Given the description of an element on the screen output the (x, y) to click on. 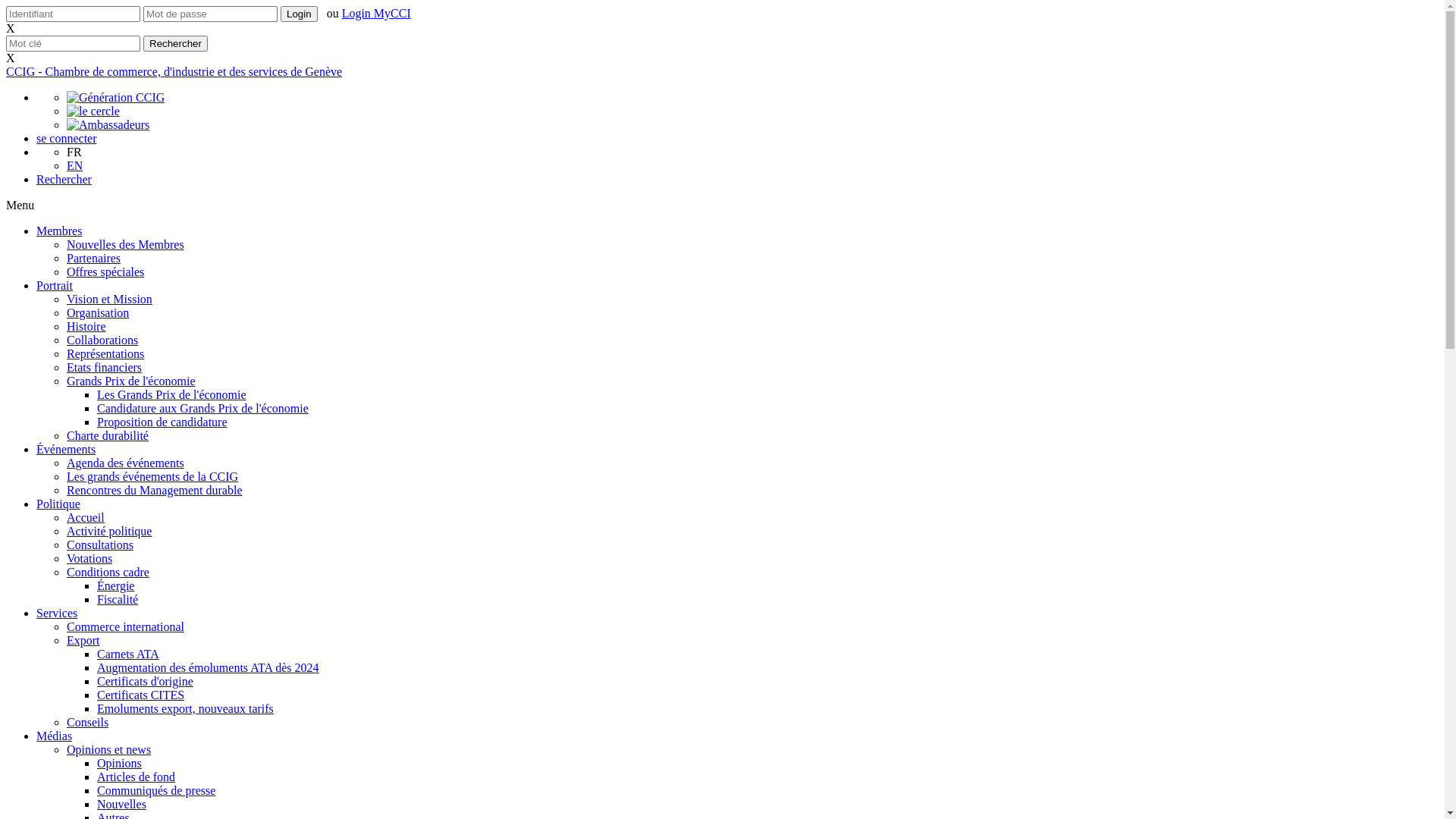
Login MyCCI Element type: text (376, 12)
Rechercher Element type: text (175, 43)
Histoire Element type: text (86, 326)
Services Element type: text (56, 612)
se connecter Element type: text (66, 137)
Certificats d'origine Element type: text (145, 680)
Conditions cadre Element type: text (107, 571)
Rencontres du Management durable Element type: text (153, 489)
Etats financiers Element type: text (103, 366)
Politique Element type: text (58, 503)
Menu Element type: text (20, 204)
Collaborations Element type: text (102, 339)
Rechercher Element type: text (63, 178)
Certificats CITES Element type: text (140, 694)
Nouvelles Element type: text (121, 803)
Votations Element type: text (89, 558)
Conseils Element type: text (87, 721)
Commerce international Element type: text (125, 626)
Carnets ATA Element type: text (128, 653)
Emoluments export, nouveaux tarifs Element type: text (185, 708)
Partenaires Element type: text (93, 257)
Proposition de candidature Element type: text (162, 421)
Login Element type: text (298, 13)
Portrait Element type: text (54, 285)
Articles de fond Element type: text (136, 776)
Export Element type: text (83, 639)
Membres Element type: text (58, 230)
Consultations Element type: text (99, 544)
Organisation Element type: text (97, 312)
Accueil Element type: text (85, 517)
Nouvelles des Membres Element type: text (125, 244)
Opinions Element type: text (119, 762)
EN Element type: text (74, 165)
Vision et Mission Element type: text (109, 298)
Opinions et news Element type: text (108, 749)
